Given the description of an element on the screen output the (x, y) to click on. 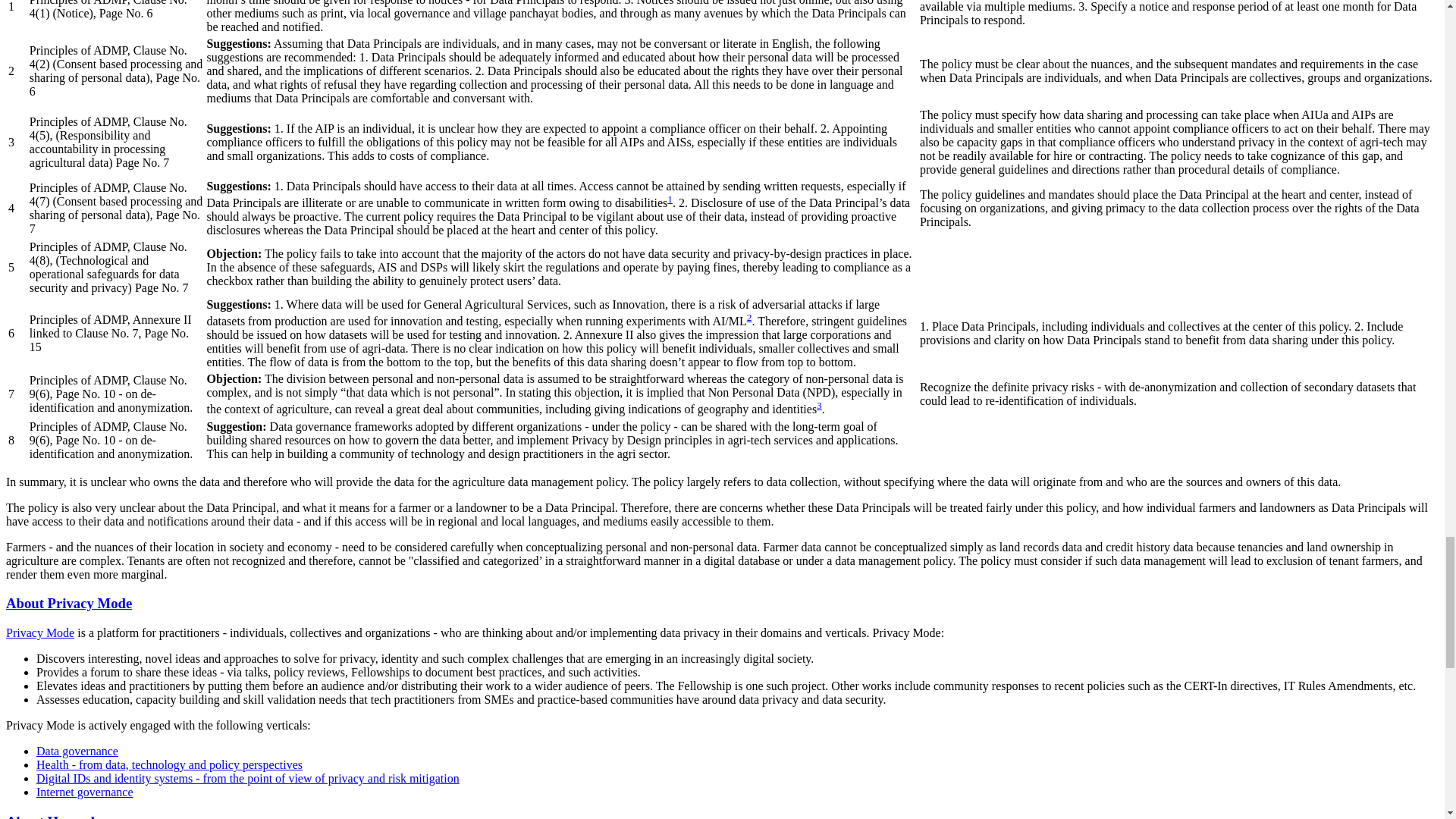
1 (669, 198)
